Given the description of an element on the screen output the (x, y) to click on. 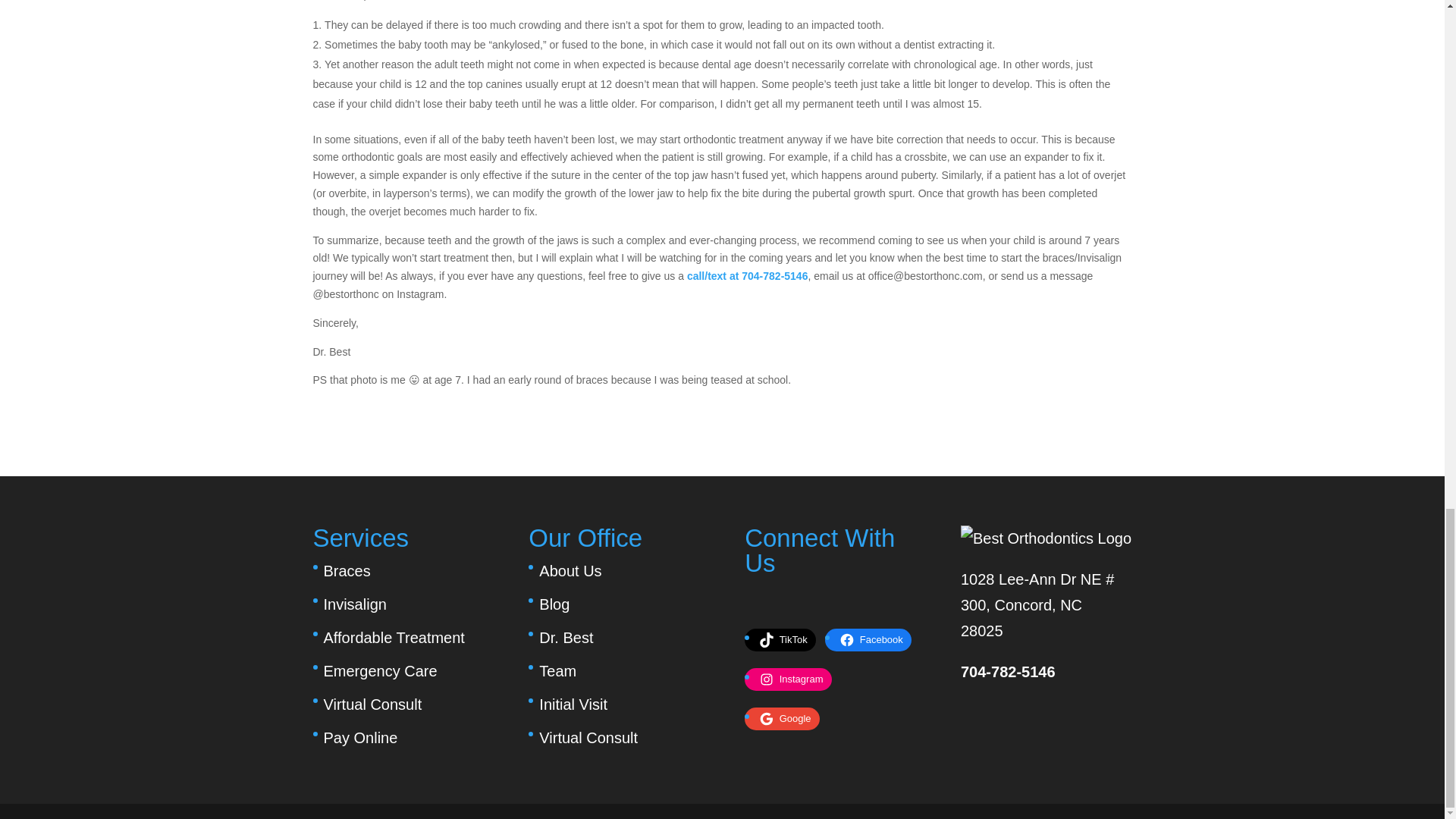
Blog (553, 604)
About Us (569, 570)
Emergency Care (379, 670)
Team (557, 670)
Braces (346, 570)
Dr. Best (565, 637)
Virtual Consult (587, 737)
Pay Online (360, 737)
TikTok (785, 639)
Initial Visit (572, 704)
